Given the description of an element on the screen output the (x, y) to click on. 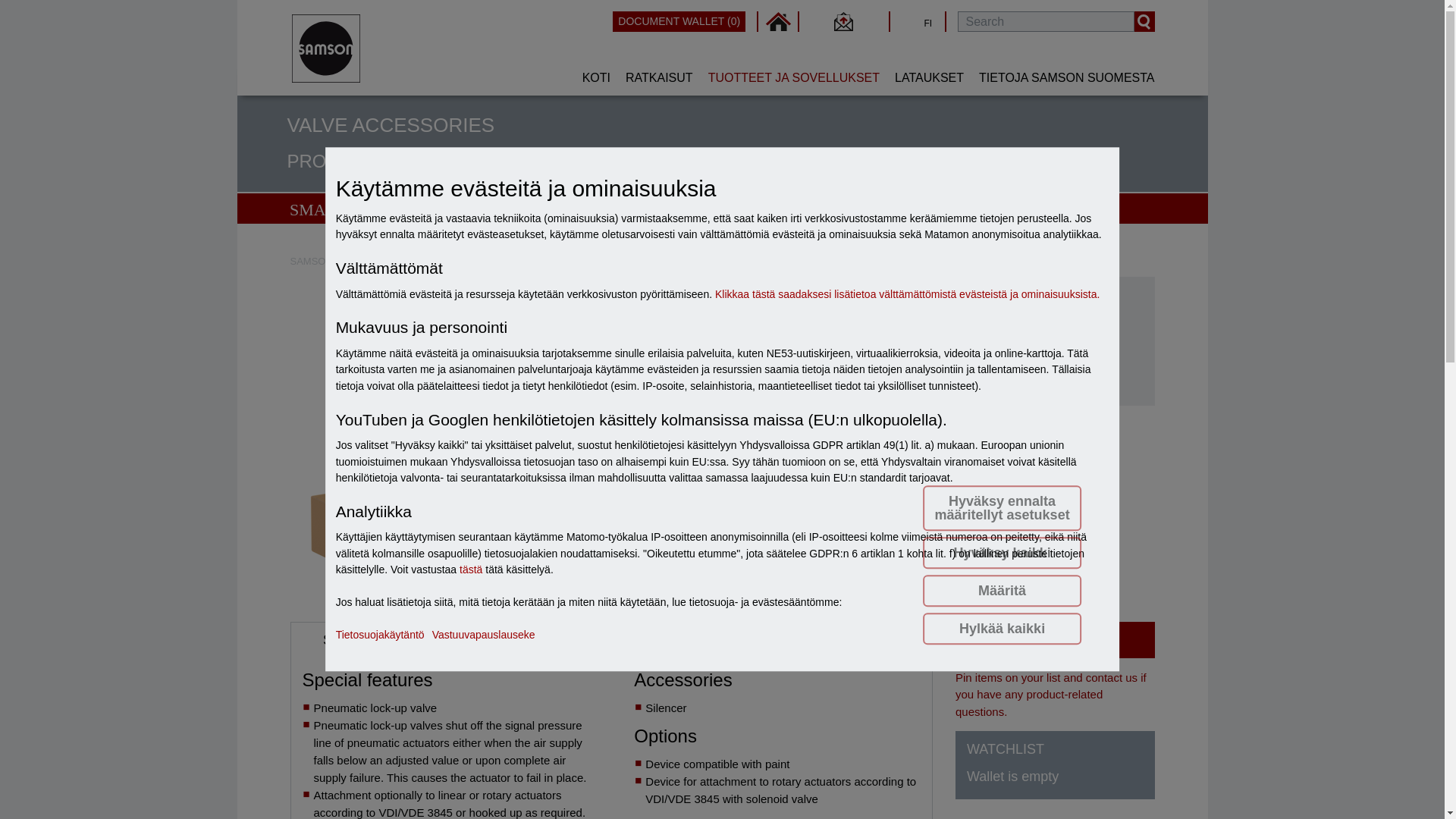
SAMSON Finland (328, 260)
Tuotevalinta (503, 260)
Home (777, 21)
HOME (777, 21)
Yhteystiedot (843, 21)
Search (1144, 21)
TUOTTEET JA SOVELLUKSET (793, 77)
FI (908, 21)
KOTI (596, 77)
RATKAISUT (658, 77)
